Given the description of an element on the screen output the (x, y) to click on. 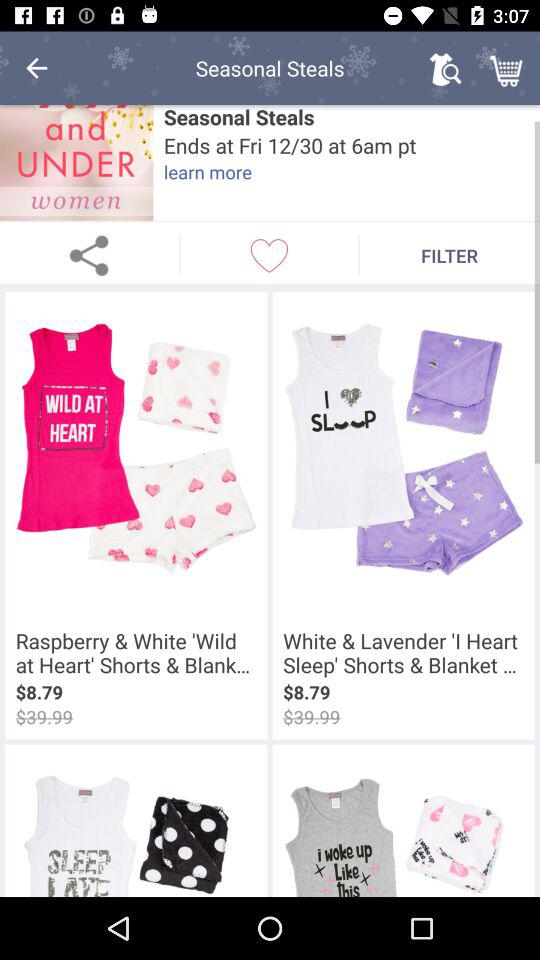
press item to the right of the seasonal steals icon (444, 67)
